Given the description of an element on the screen output the (x, y) to click on. 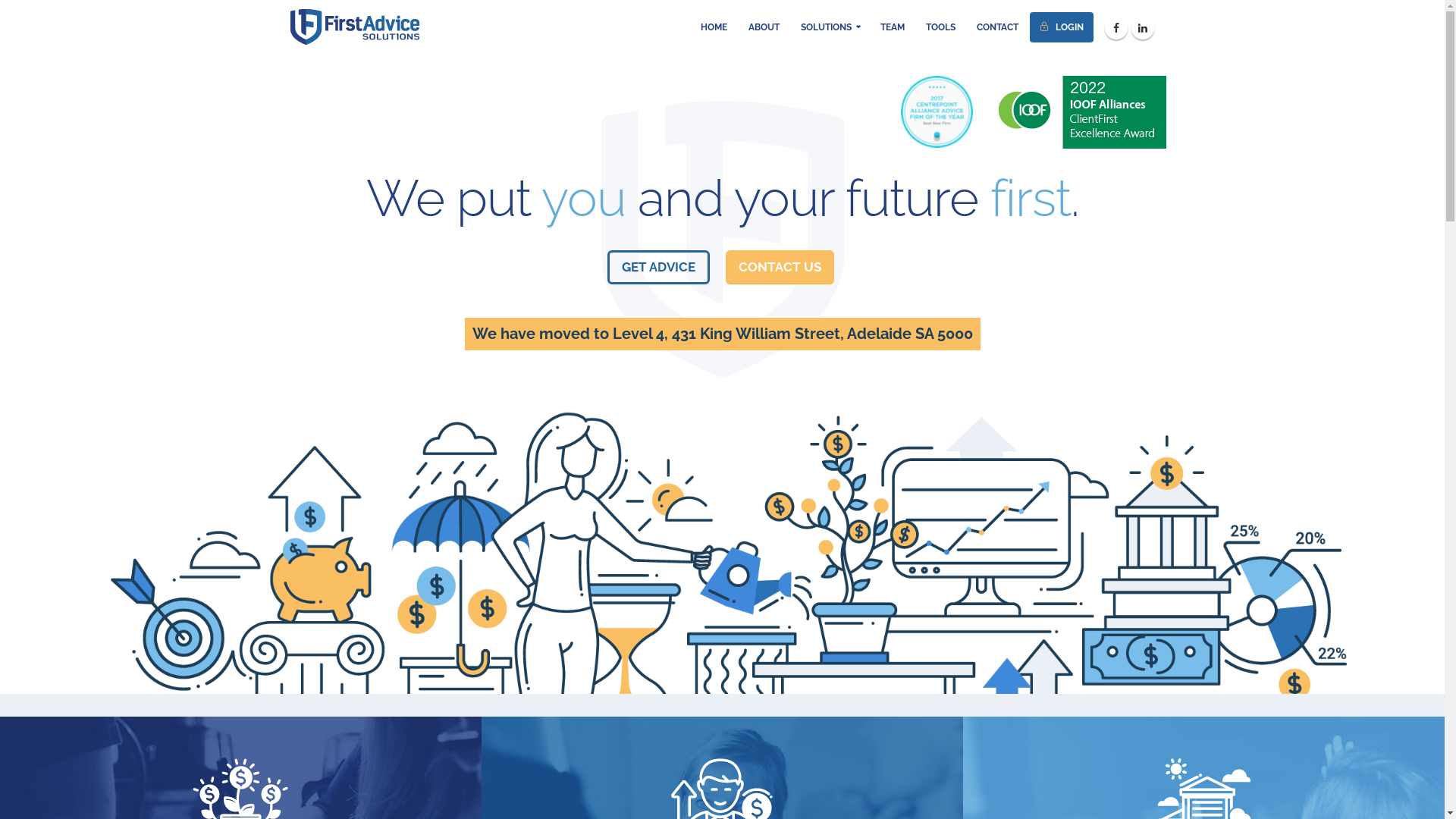
   LOGIN Element type: text (1061, 27)
GET ADVICE Element type: text (657, 266)
TOOLS Element type: text (940, 27)
SOLUTIONS Element type: text (829, 27)
CONTACT US Element type: text (780, 269)
Facebook Element type: hover (1115, 27)
TEAM Element type: text (892, 27)
HOME Element type: text (713, 27)
Linkedin Element type: hover (1142, 27)
GET ADVICE Element type: text (659, 269)
ABOUT Element type: text (763, 27)
CONTACT US Element type: text (778, 266)
CONTACT Element type: text (996, 27)
